Given the description of an element on the screen output the (x, y) to click on. 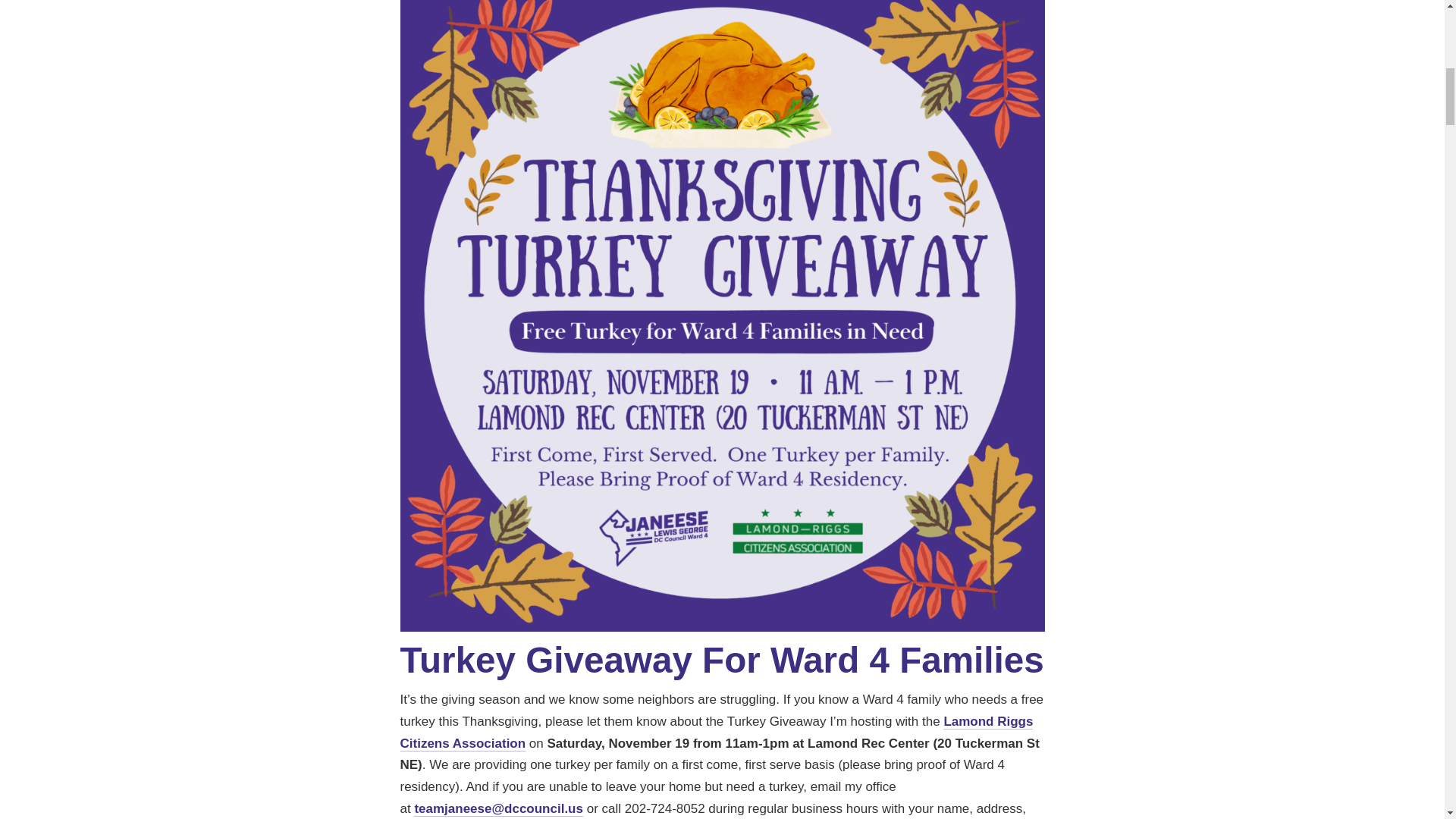
Lamond Riggs Citizens Association (716, 732)
